Given the description of an element on the screen output the (x, y) to click on. 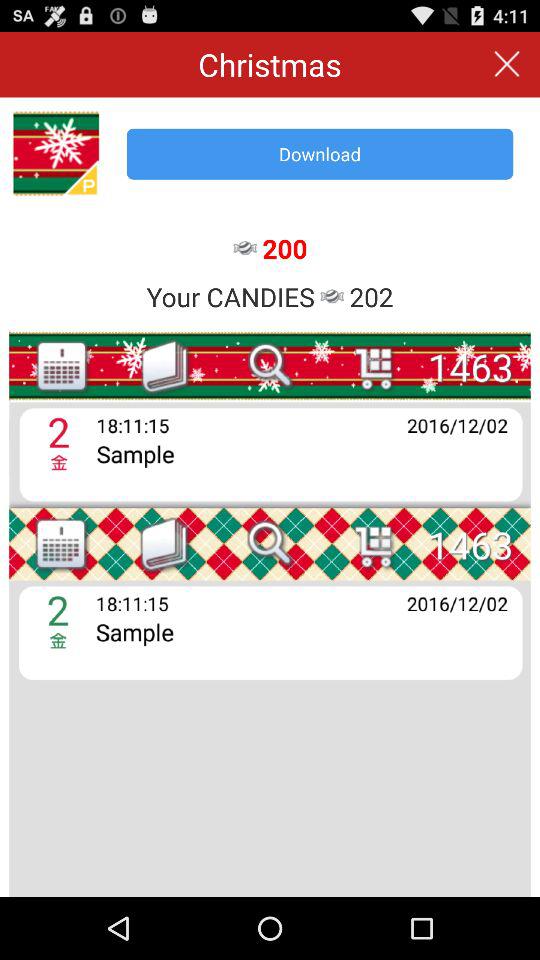
choose download icon (319, 153)
